Given the description of an element on the screen output the (x, y) to click on. 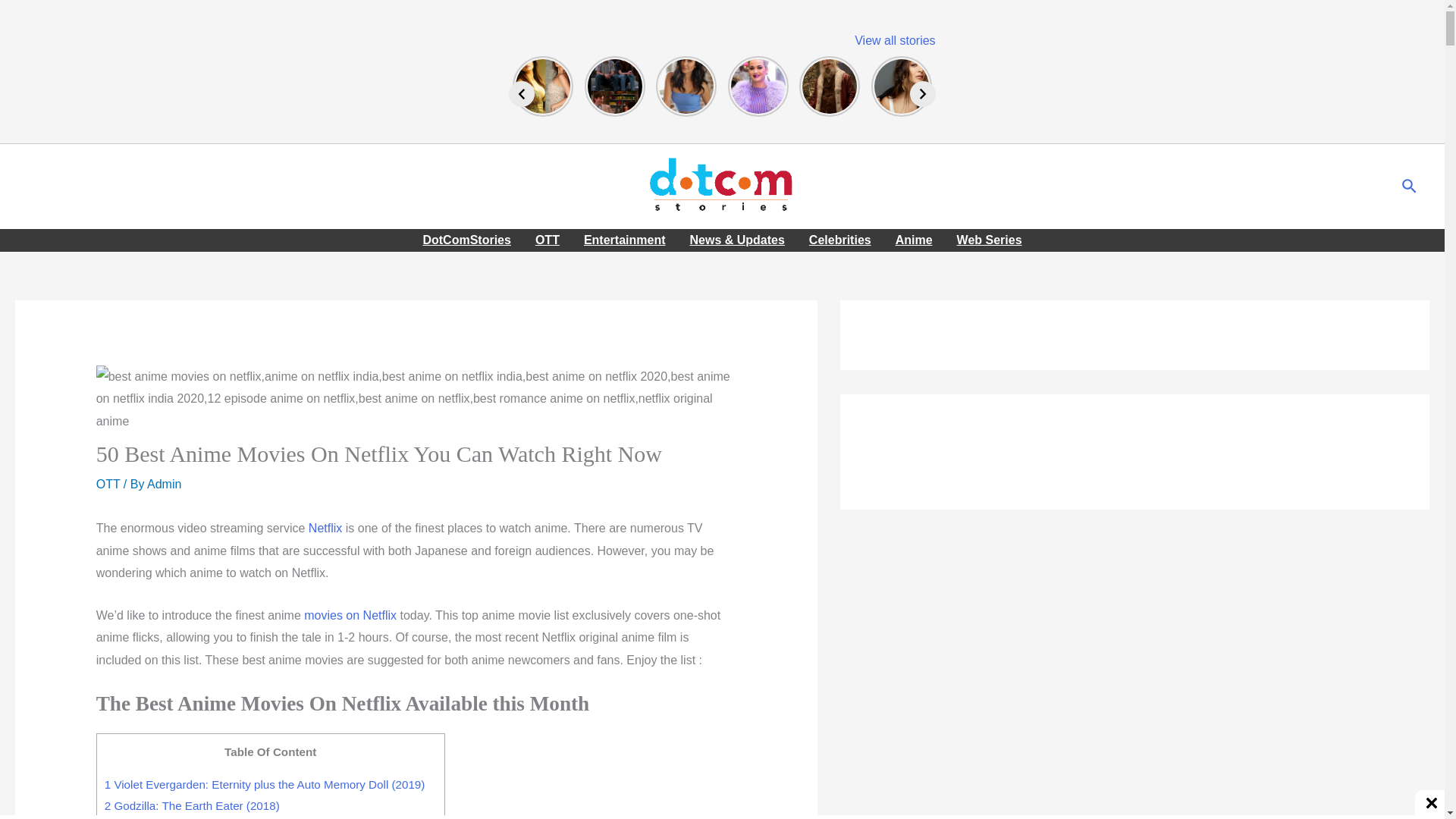
Entertainment (625, 240)
DotComStories (466, 240)
Web Series (988, 240)
Celebrities (839, 240)
View all stories (894, 40)
Admin (163, 483)
Anime (913, 240)
movies on Netflix (350, 615)
OTT (547, 240)
Netflix (325, 527)
View all posts by Admin (163, 483)
OTT (108, 483)
